Given the description of an element on the screen output the (x, y) to click on. 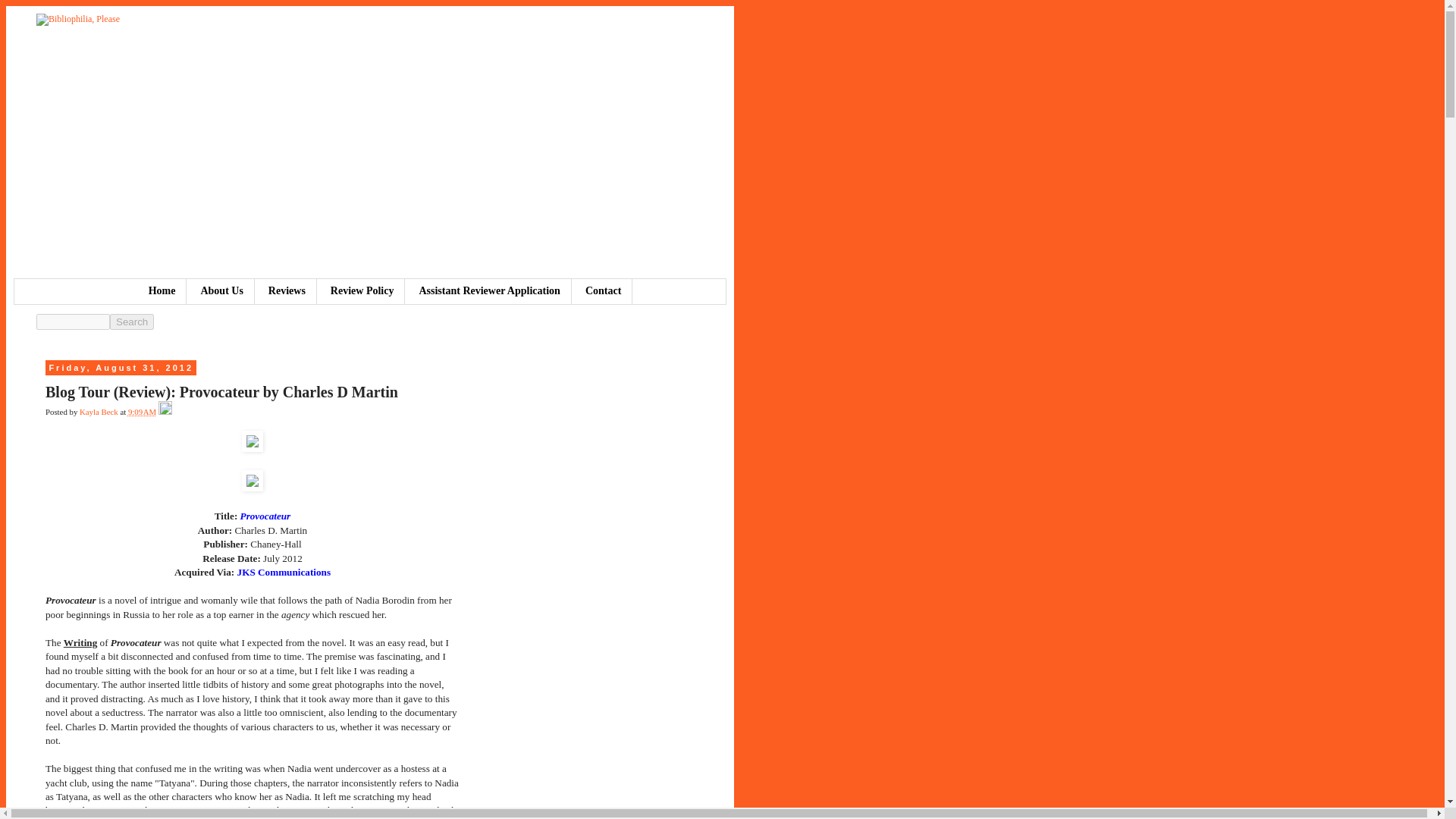
Search (132, 321)
search (73, 321)
Provocateur (265, 515)
search (132, 321)
Home (162, 291)
Edit Post (164, 411)
Reviews (287, 291)
Review Policy (362, 291)
permanent link (141, 411)
author profile (99, 411)
JKS Communications (283, 572)
Assistant Reviewer Application (488, 291)
Kayla Beck (99, 411)
Search (132, 321)
